Given the description of an element on the screen output the (x, y) to click on. 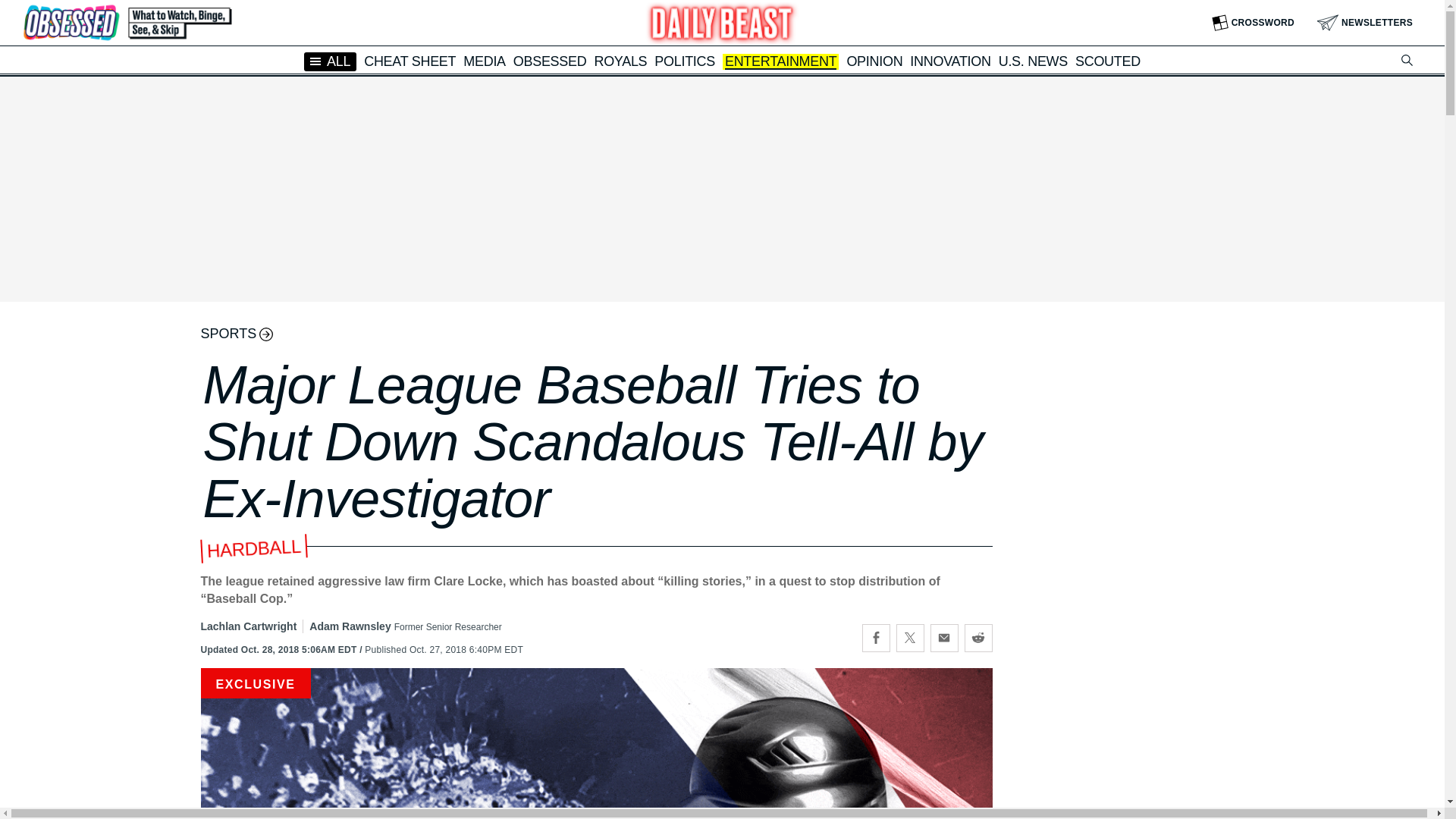
CROSSWORD (1252, 22)
CHEAT SHEET (409, 60)
OPINION (873, 60)
ALL (330, 60)
NEWSLETTERS (1364, 22)
OBSESSED (549, 60)
SCOUTED (1107, 60)
POLITICS (683, 60)
INNOVATION (950, 60)
MEDIA (484, 60)
ROYALS (620, 60)
U.S. NEWS (1032, 60)
ENTERTAINMENT (780, 61)
